Given the description of an element on the screen output the (x, y) to click on. 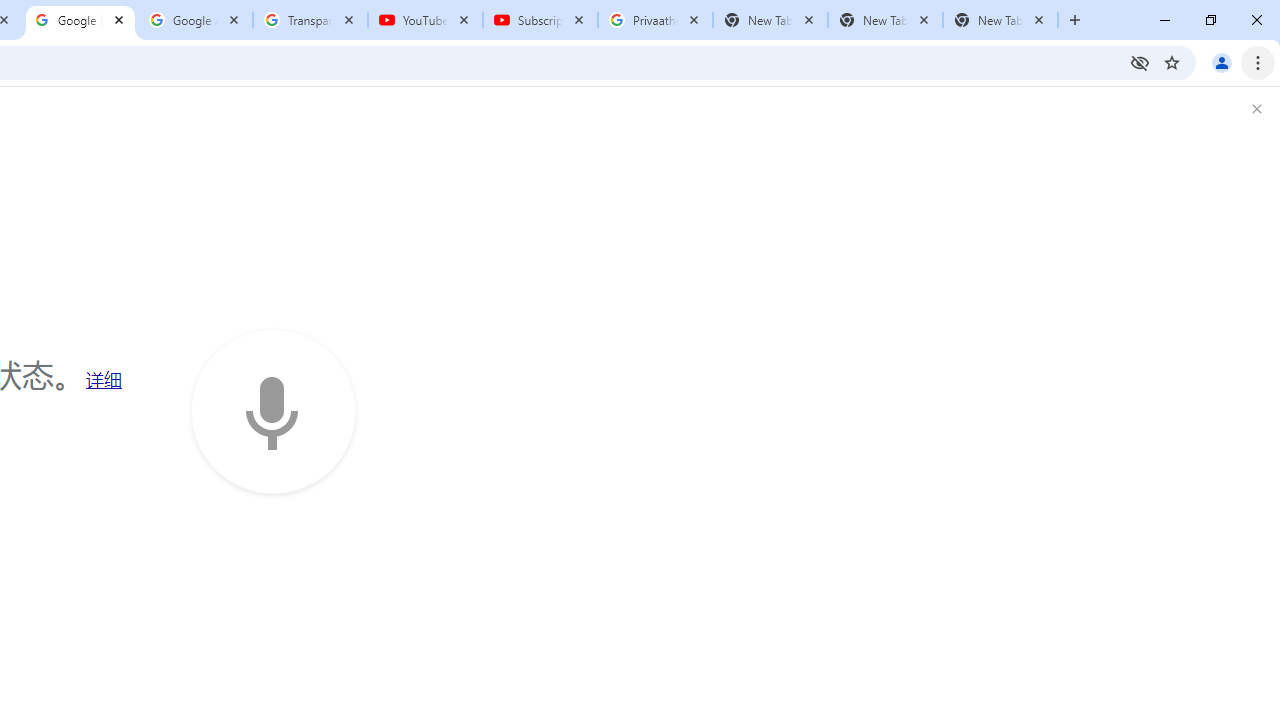
YouTube (424, 20)
New Tab (1000, 20)
Subscriptions - YouTube (539, 20)
Google Account (195, 20)
